Given the description of an element on the screen output the (x, y) to click on. 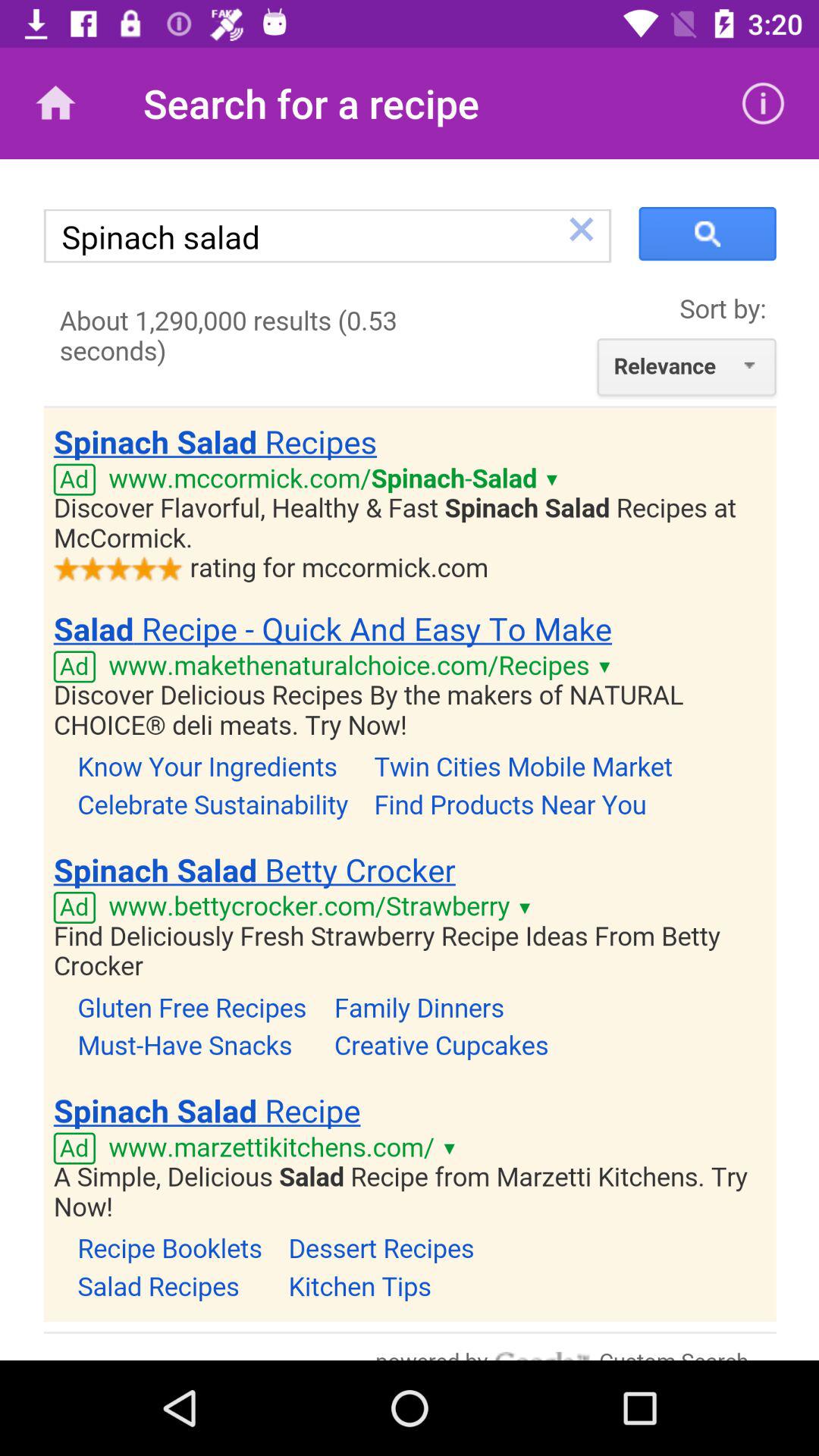
review results (409, 759)
